Given the description of an element on the screen output the (x, y) to click on. 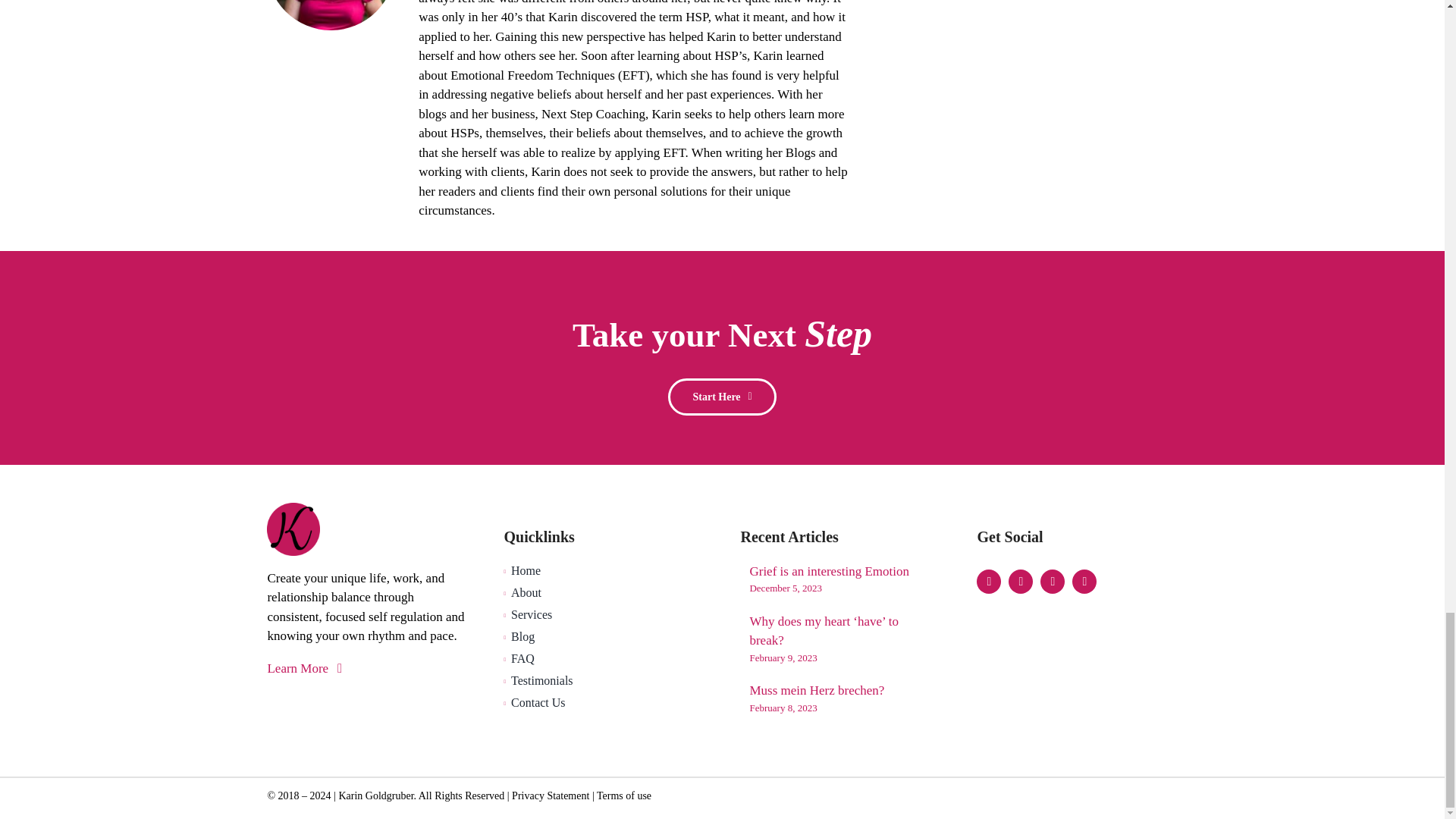
Learn More (366, 671)
About (603, 592)
Home (603, 570)
Testimonials (603, 680)
FAQ (603, 659)
Karin-thankyou-page (330, 15)
Services (603, 615)
Blog (603, 637)
Start Here (722, 396)
